Given the description of an element on the screen output the (x, y) to click on. 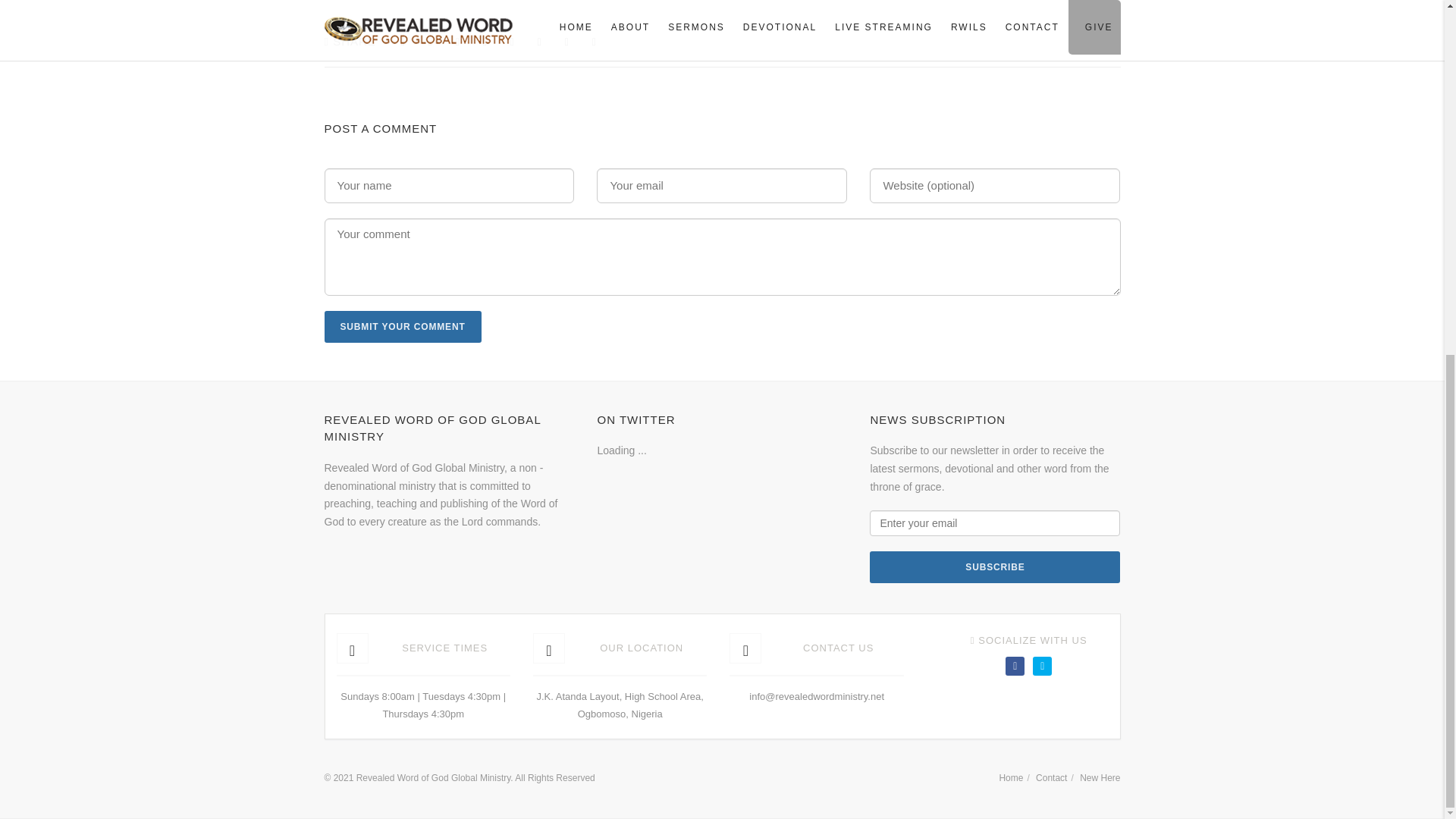
Submit your comment (402, 327)
Submit to Reddit (538, 41)
New Here (1099, 777)
Email (594, 41)
Next (825, 336)
Tweet (429, 41)
Contact (1051, 777)
Post to Tumblr (485, 41)
Share on LinkedIn (566, 41)
Pin it (511, 41)
Subscribe (994, 567)
Share on Facebook (402, 41)
Submit your comment (402, 327)
Subscribe (994, 567)
Home (1010, 777)
